Given the description of an element on the screen output the (x, y) to click on. 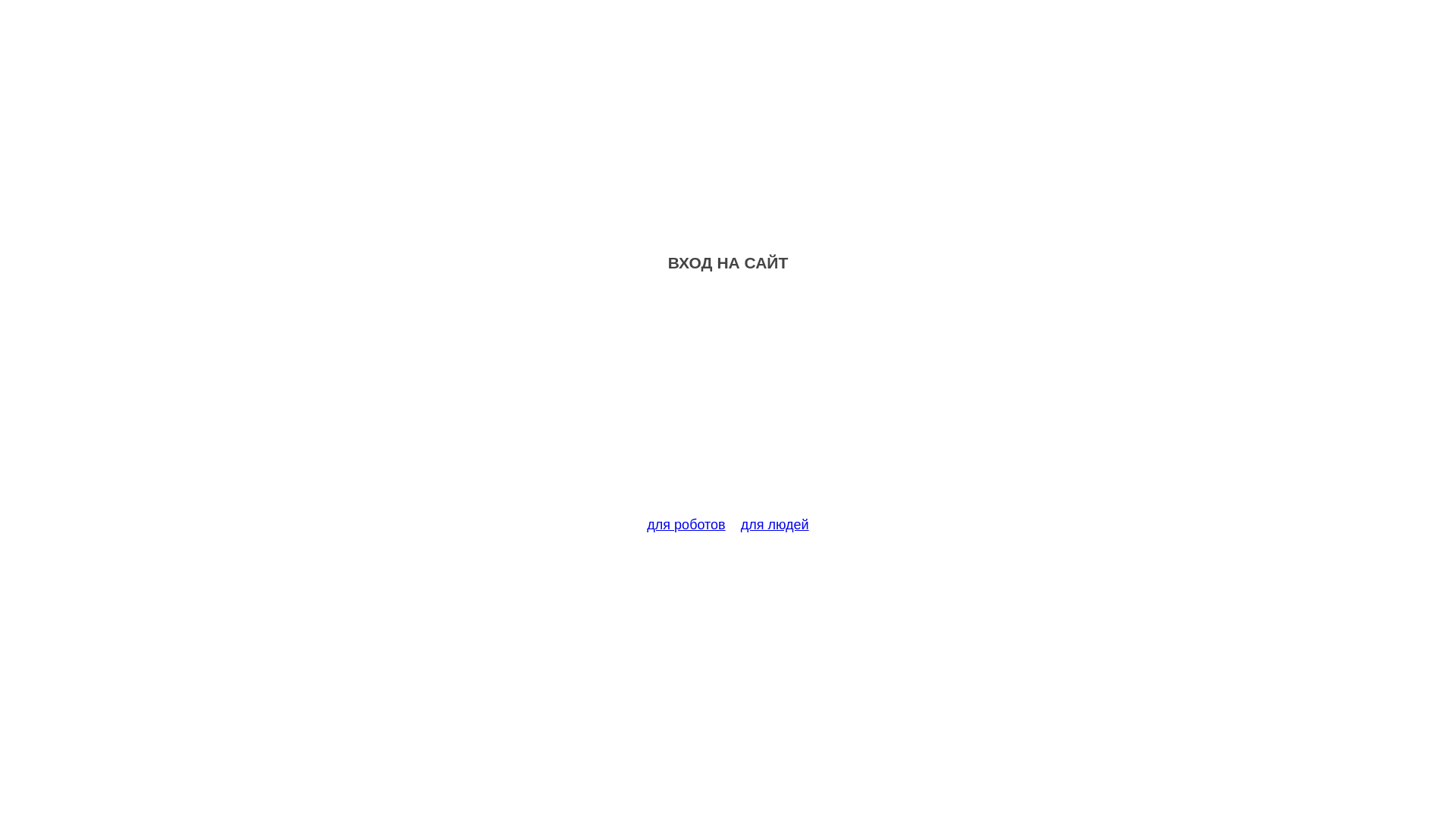
Advertisement Element type: hover (727, 403)
